Given the description of an element on the screen output the (x, y) to click on. 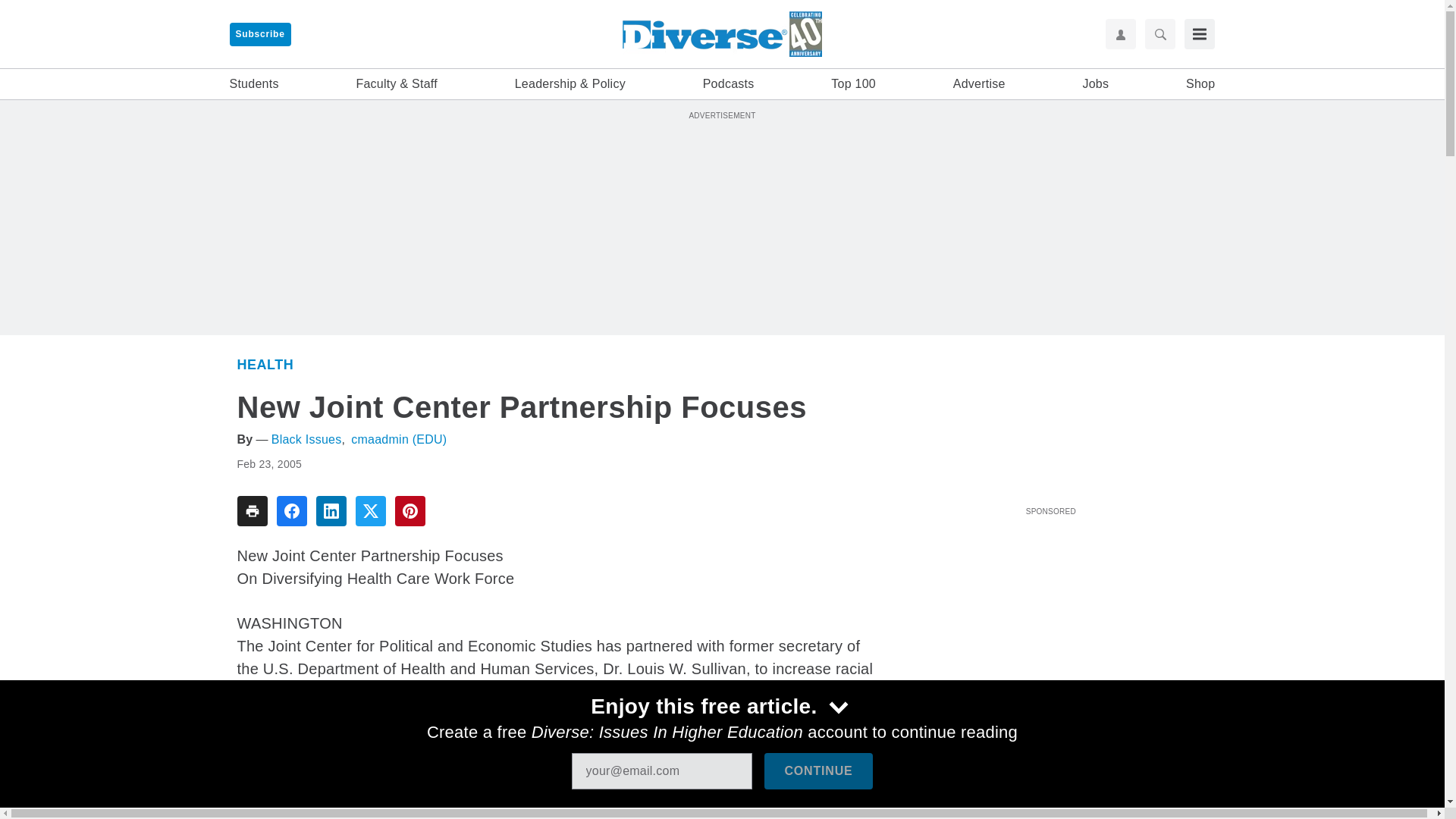
Jobs (1094, 84)
Subscribe (258, 33)
Subscribe (258, 33)
Share To facebook (290, 511)
Share To pinterest (409, 511)
Share To linkedin (330, 511)
Podcasts (728, 84)
Share To print (250, 511)
Share To twitter (370, 511)
Advertise (979, 84)
Shop (1200, 84)
Top 100 (853, 84)
Health (264, 364)
Students (253, 84)
